Given the description of an element on the screen output the (x, y) to click on. 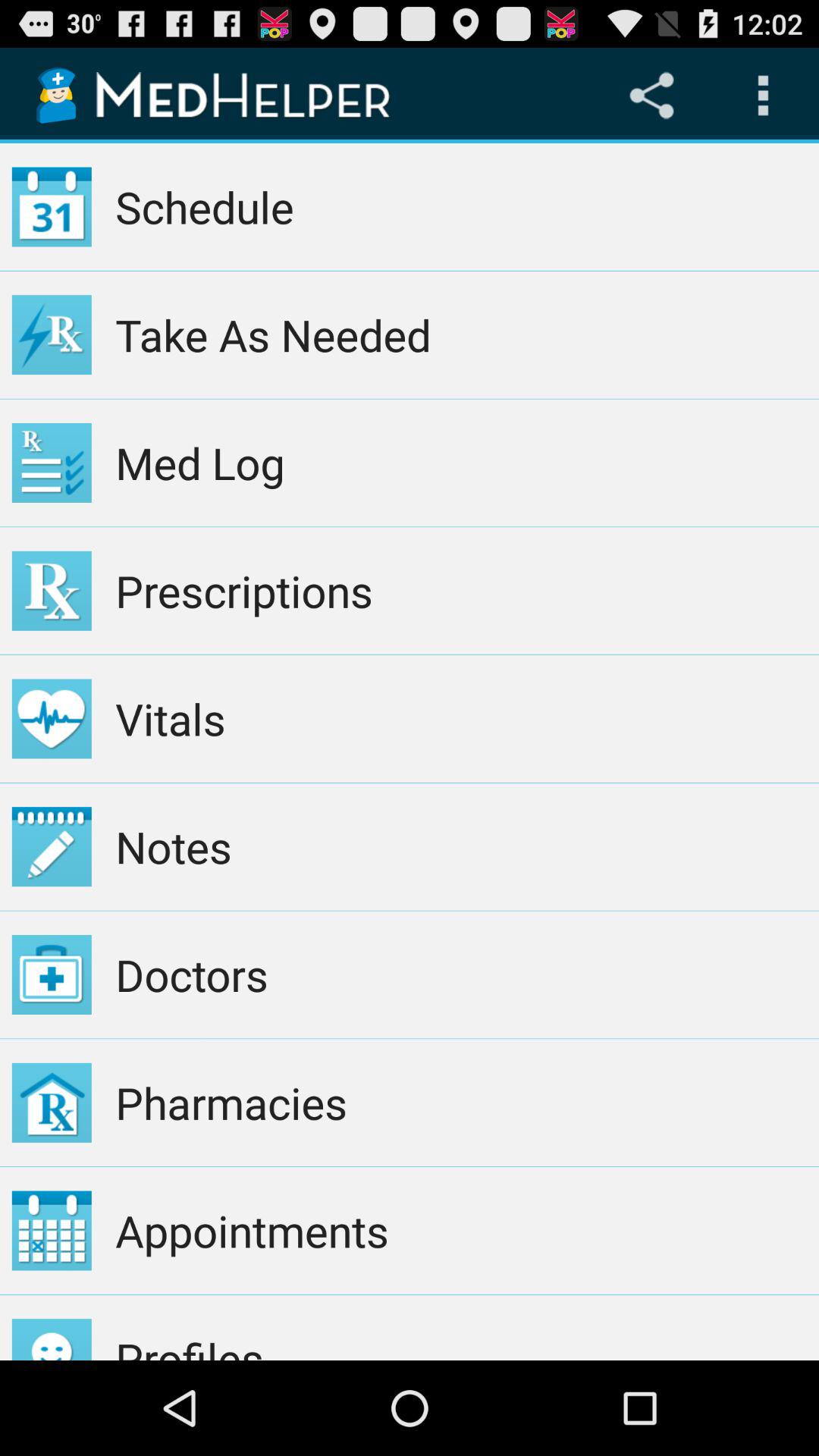
launch the notes app (461, 846)
